Given the description of an element on the screen output the (x, y) to click on. 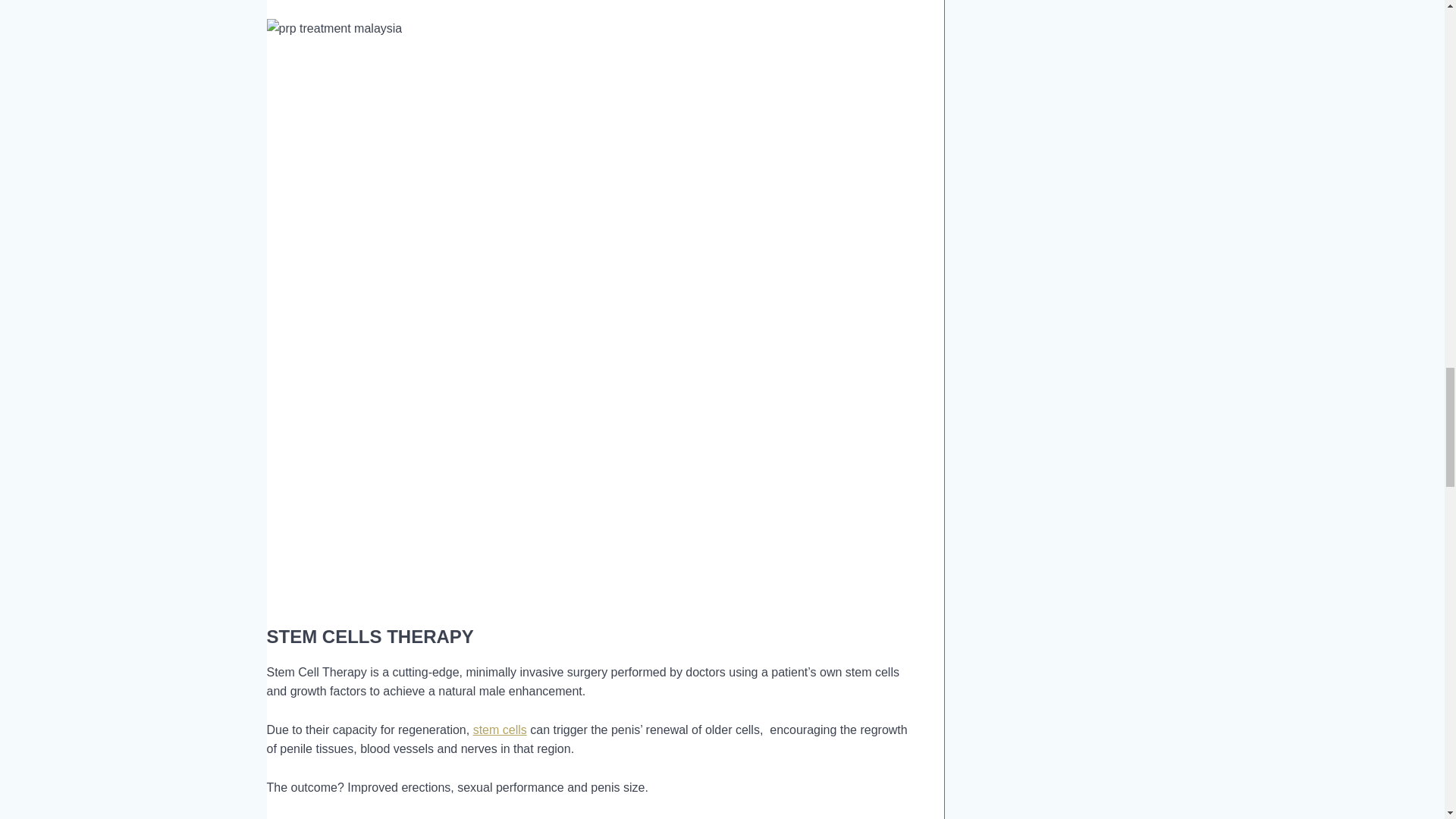
YouTube video player (478, 440)
YouTube video player (478, 176)
